Given the description of an element on the screen output the (x, y) to click on. 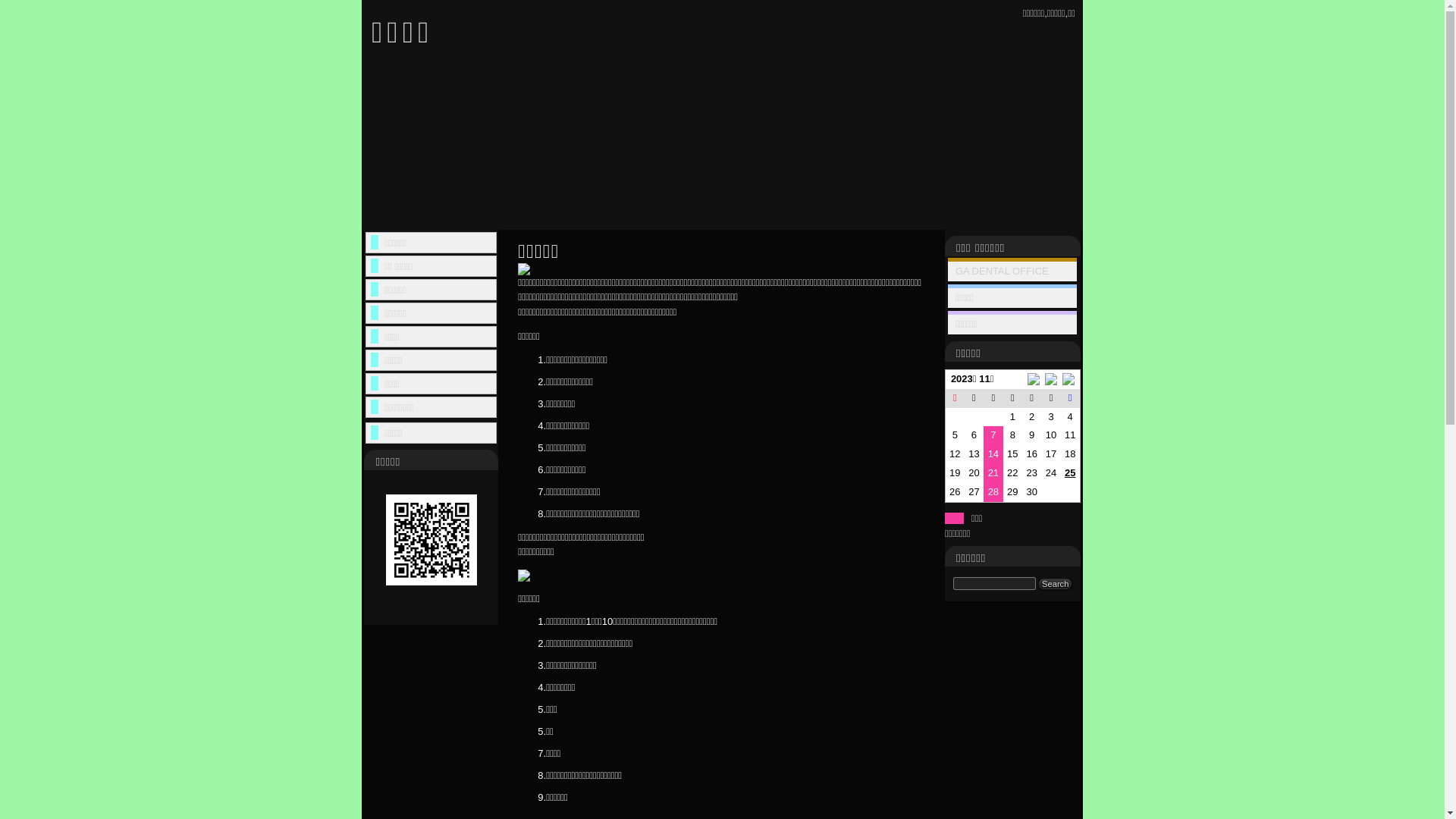
Search Element type: text (1054, 583)
GA DENTAL OFFICE Element type: text (1001, 270)
